Given the description of an element on the screen output the (x, y) to click on. 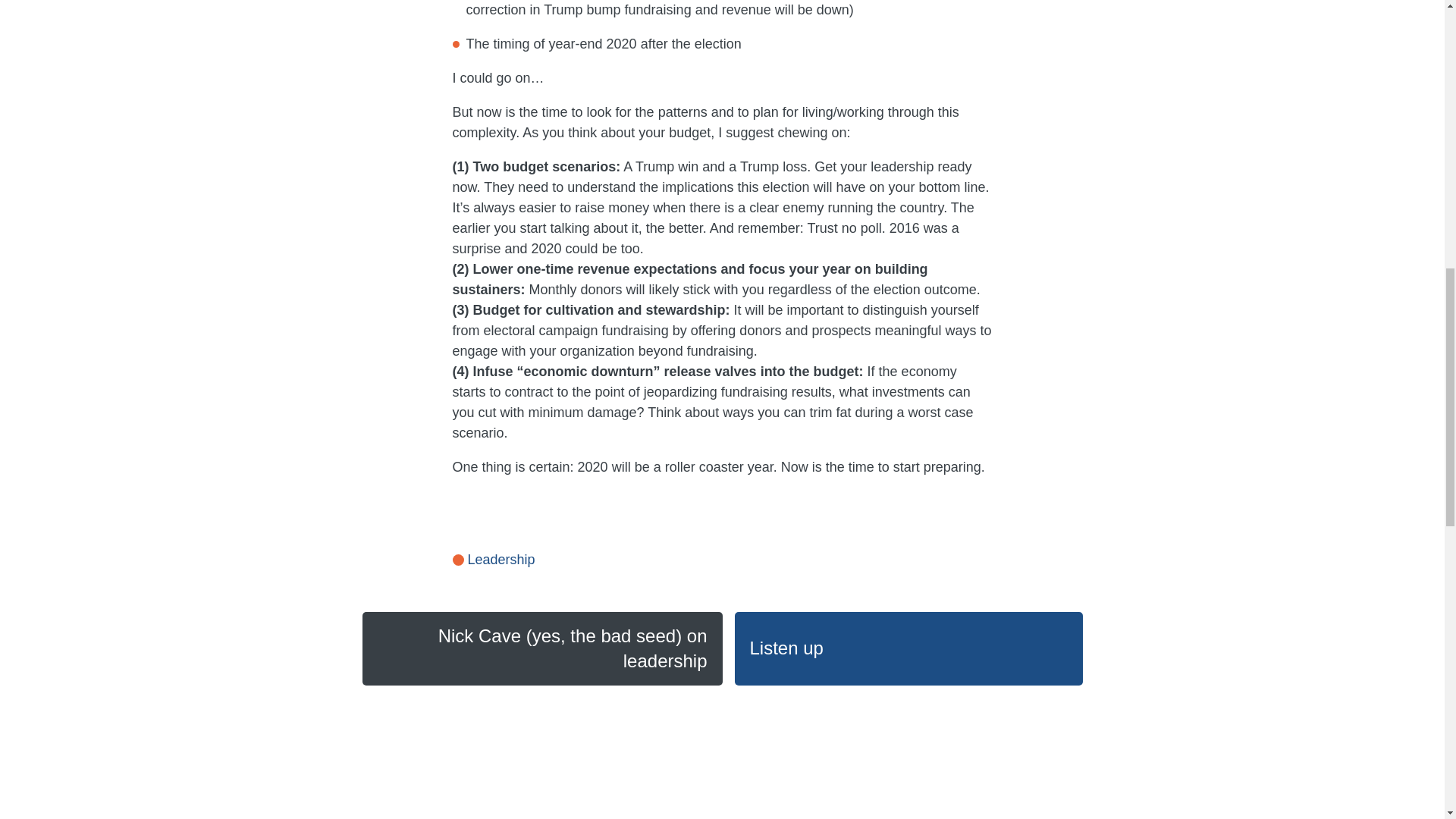
Leadership (492, 559)
Listen up (907, 648)
